Given the description of an element on the screen output the (x, y) to click on. 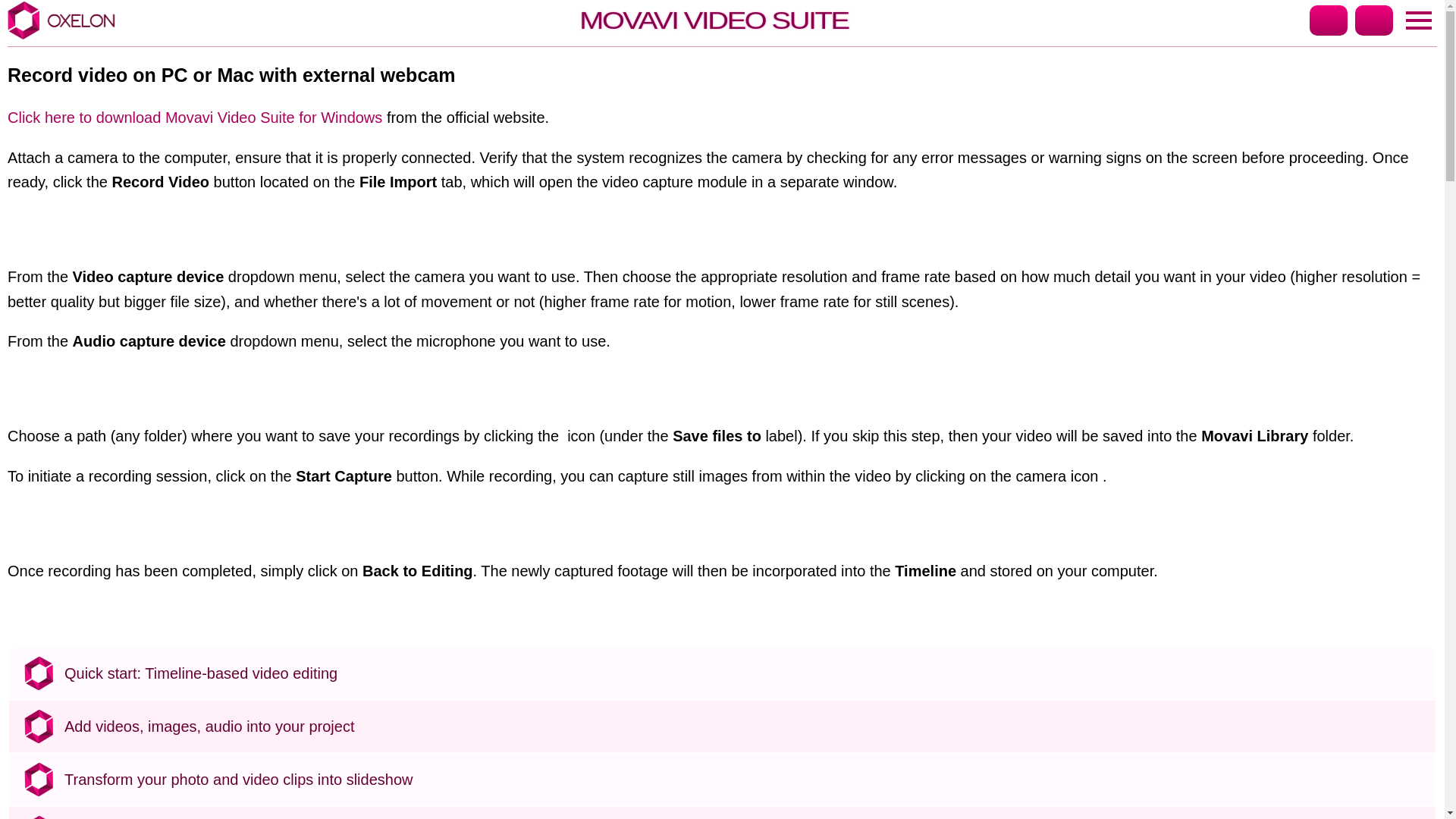
Transform your photo and video clips into slideshow (746, 779)
Add videos, images, audio into your project (746, 726)
Main Page (1418, 20)
Quick start: Timeline-based video editing (746, 673)
Click here to download Movavi Video Suite for Windows (194, 117)
Click here to download Movavi Video Suite for Windows (194, 117)
